Given the description of an element on the screen output the (x, y) to click on. 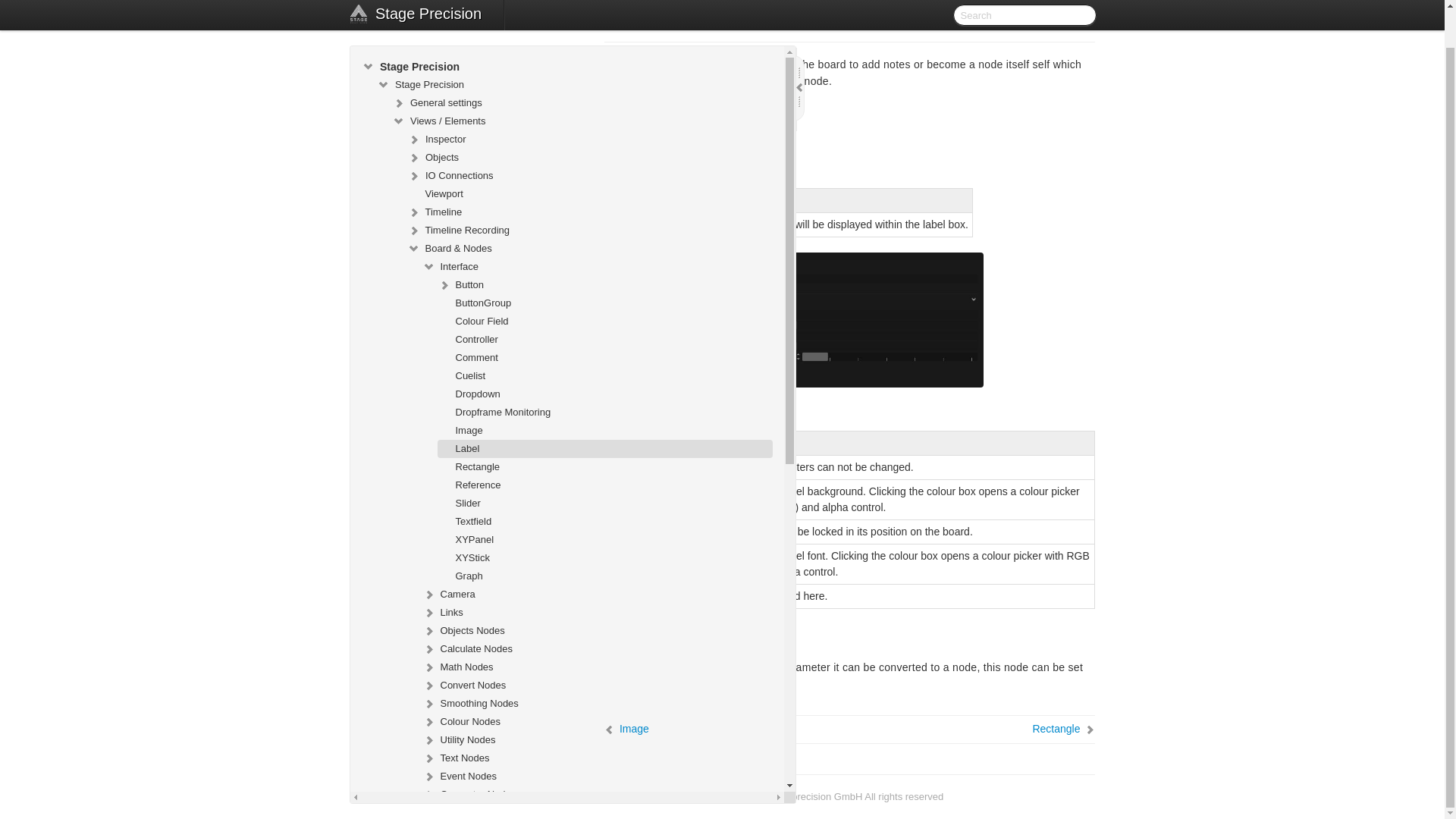
Print page (1084, 19)
